Given the description of an element on the screen output the (x, y) to click on. 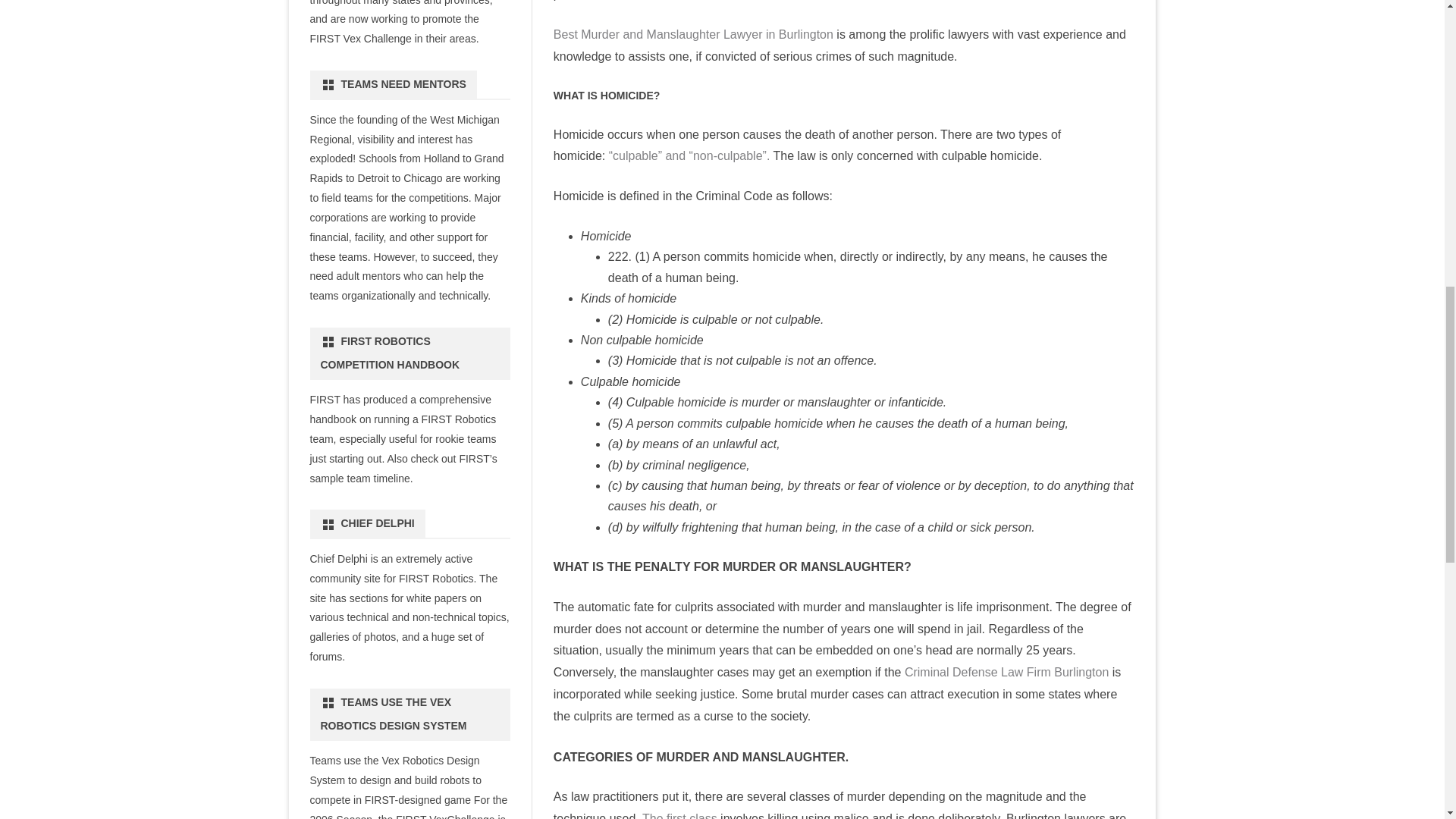
 Criminal Defense Law Firm Burlington (1004, 671)
Best Murder and Manslaughter Lawyer in Burlington (692, 33)
The first class (679, 815)
